Given the description of an element on the screen output the (x, y) to click on. 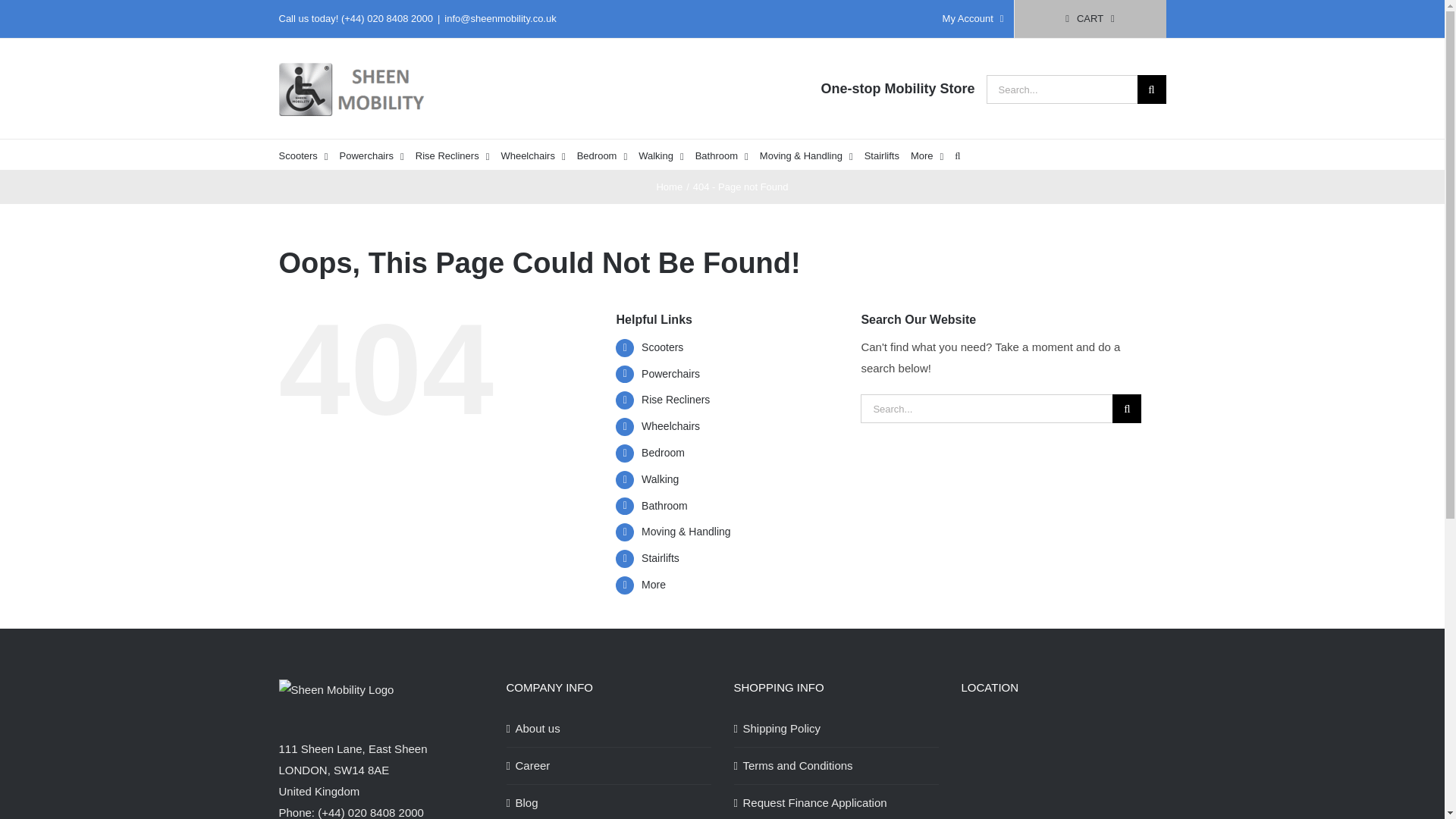
Log In (1034, 162)
Wheelchairs (532, 154)
My Account (973, 18)
CART (1090, 18)
Rise Recliners (451, 154)
Bedroom (601, 154)
Powerchairs (371, 154)
Scooters (304, 154)
